Given the description of an element on the screen output the (x, y) to click on. 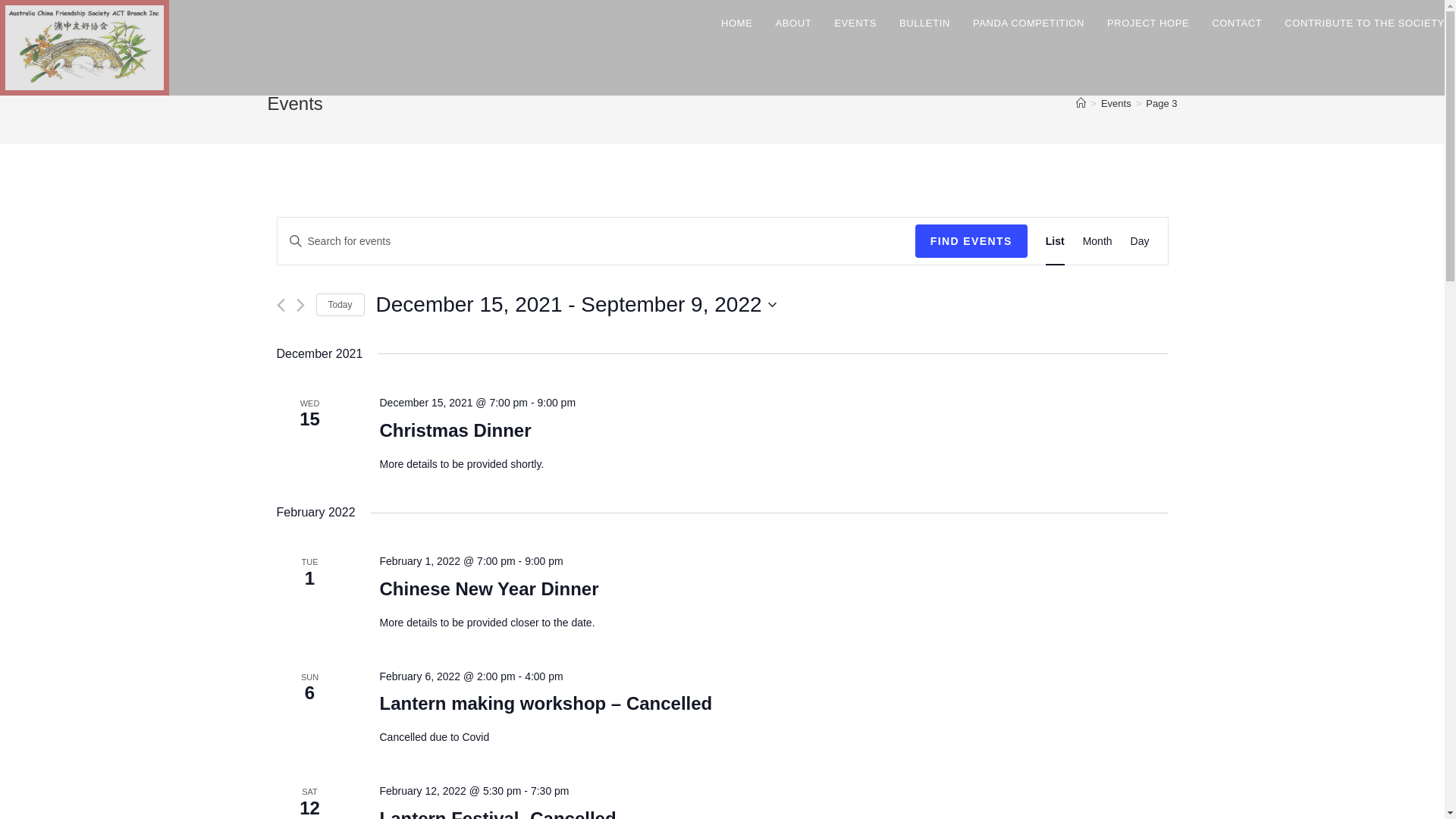
Day Element type: text (1139, 241)
FIND EVENTS Element type: text (971, 241)
CONTACT Element type: text (1236, 23)
Page 3 Element type: text (1160, 103)
List Element type: text (1054, 241)
ABOUT Element type: text (793, 23)
Today Element type: text (339, 304)
Next Events Element type: hover (299, 305)
Chinese New Year Dinner Element type: text (488, 588)
HOME Element type: text (736, 23)
Month Element type: text (1097, 241)
EVENTS Element type: text (855, 23)
BULLETIN Element type: text (924, 23)
PROJECT HOPE Element type: text (1147, 23)
December 15, 2021
 - 
September 9, 2022 Element type: text (576, 304)
Previous Events Element type: hover (280, 305)
Christmas Dinner Element type: text (454, 430)
Events Element type: text (1116, 103)
PANDA COMPETITION Element type: text (1028, 23)
